Given the description of an element on the screen output the (x, y) to click on. 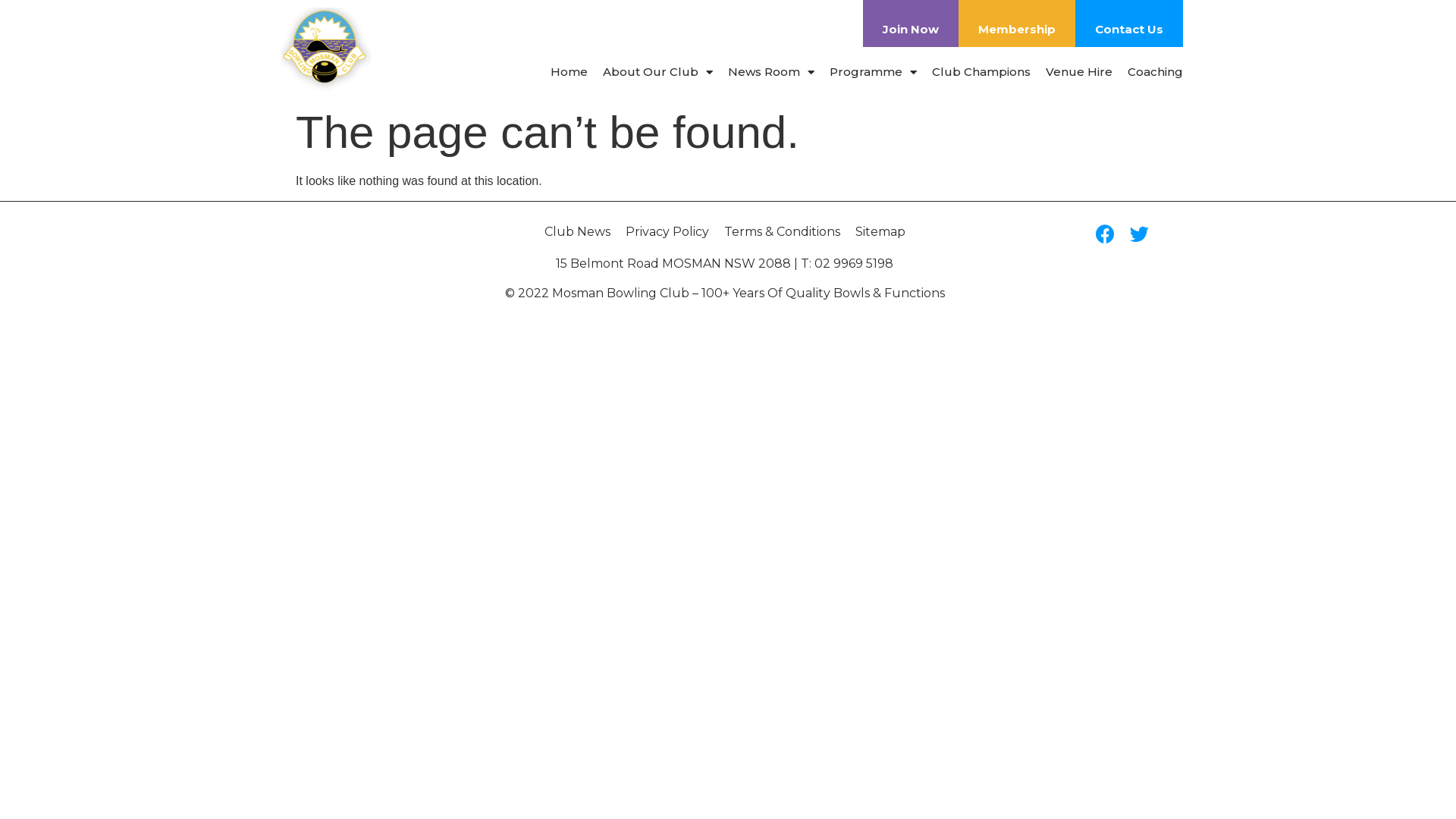
Contact Us Element type: text (1129, 23)
Sitemap Element type: text (880, 231)
Membership Element type: text (1016, 23)
Terms & Conditions Element type: text (781, 231)
Coaching Element type: text (1155, 71)
Venue Hire Element type: text (1078, 71)
Club News Element type: text (577, 231)
Home Element type: text (568, 71)
Programme Element type: text (872, 71)
Join Now Element type: text (910, 23)
News Room Element type: text (771, 71)
02 9969 5198 Element type: text (853, 263)
Privacy Policy Element type: text (667, 231)
Club Champions Element type: text (980, 71)
About Our Club Element type: text (657, 71)
